Given the description of an element on the screen output the (x, y) to click on. 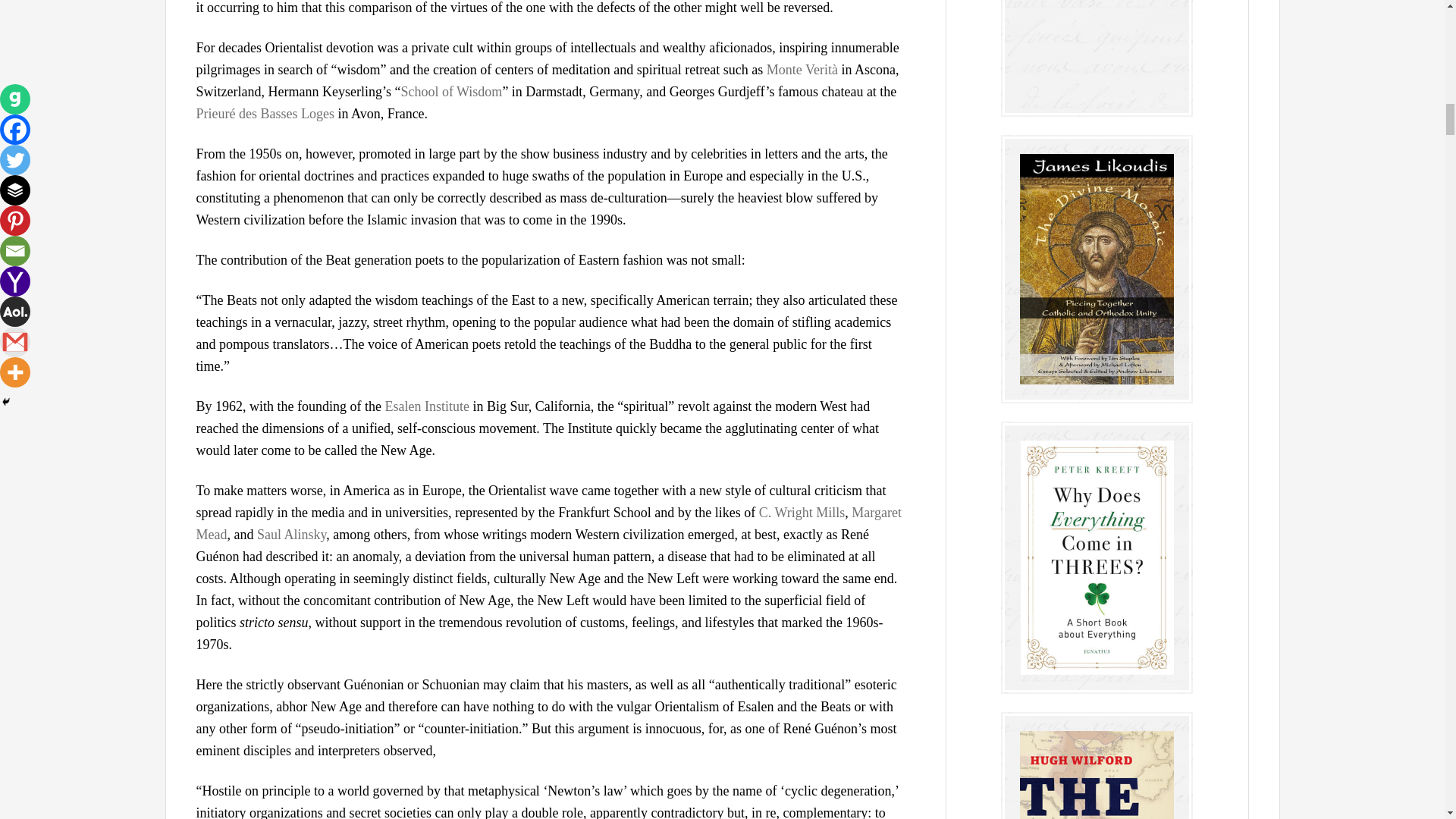
Esalen Institute (426, 406)
Saul Alinsky (291, 534)
C. Wright Mills (801, 512)
Margaret Mead (548, 523)
School of Wisdom (451, 91)
